Given the description of an element on the screen output the (x, y) to click on. 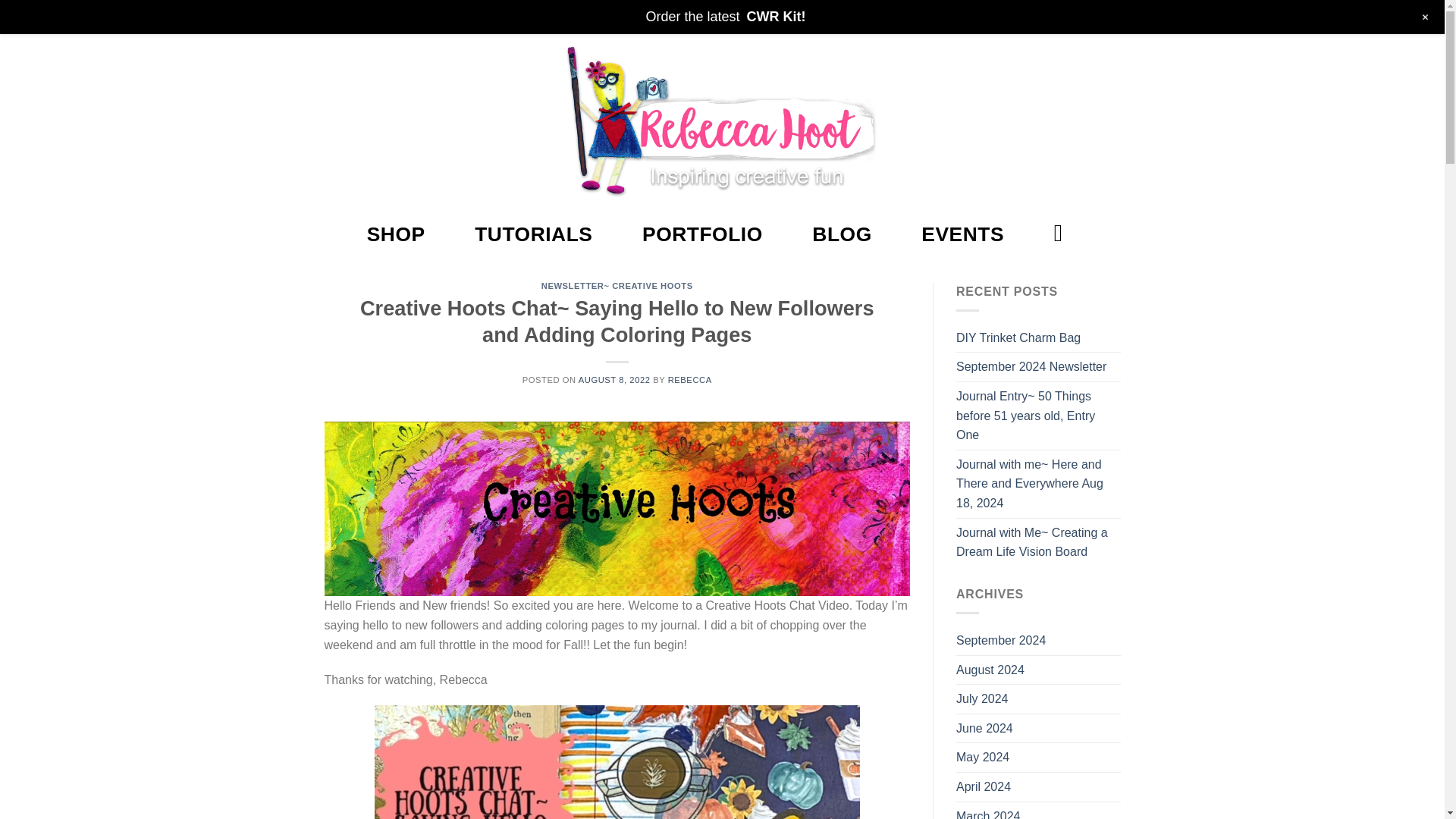
SHOP (396, 234)
PORTFOLIO (702, 234)
BLOG (841, 234)
DIY Trinket Charm Bag (1018, 337)
AUGUST 8, 2022 (614, 379)
Follow on YouTube (400, 14)
Follow on Instagram (357, 14)
Follow on Facebook (335, 14)
Connect (1049, 15)
TUTORIALS (533, 234)
